Given the description of an element on the screen output the (x, y) to click on. 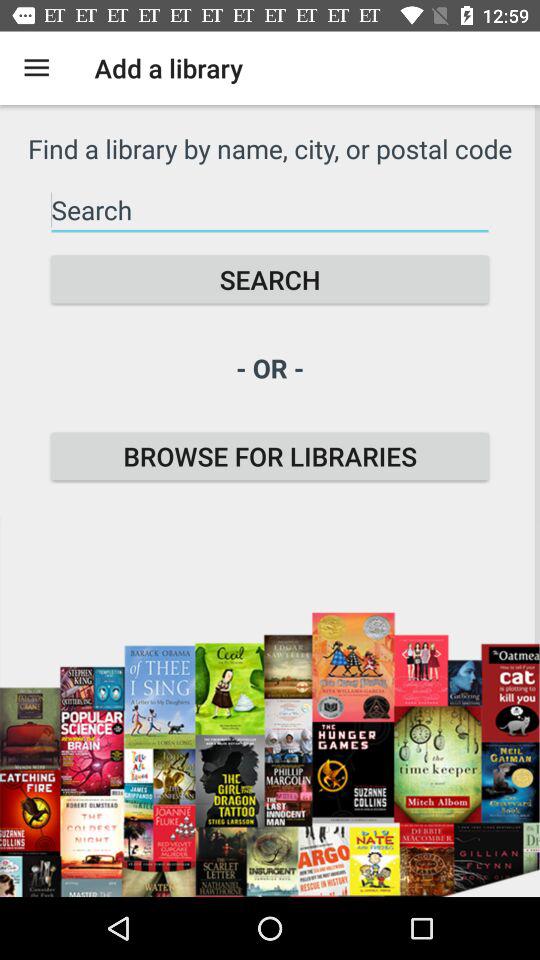
tap the icon above find a library icon (36, 68)
